Given the description of an element on the screen output the (x, y) to click on. 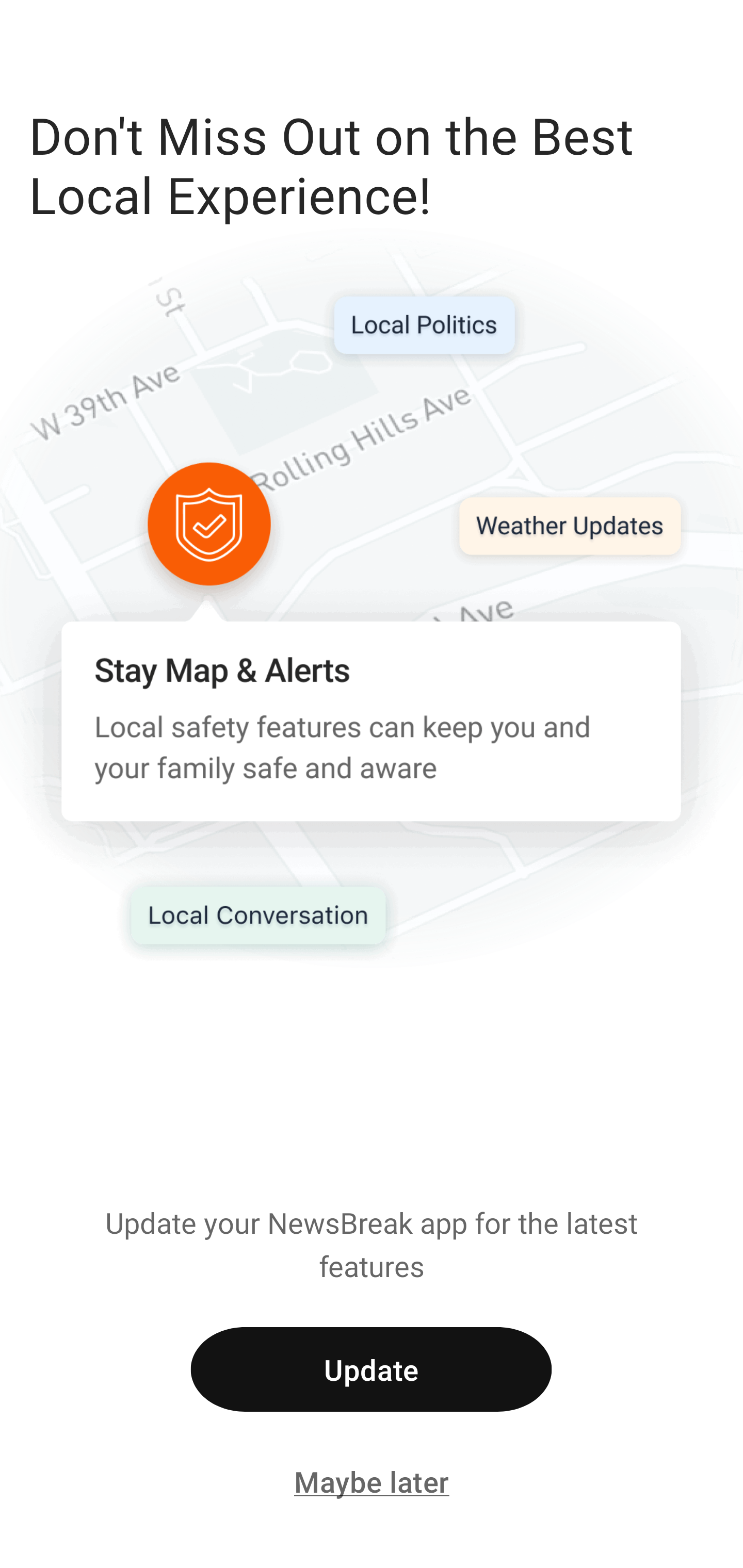
Update (370, 1369)
Maybe later (371, 1480)
